Given the description of an element on the screen output the (x, y) to click on. 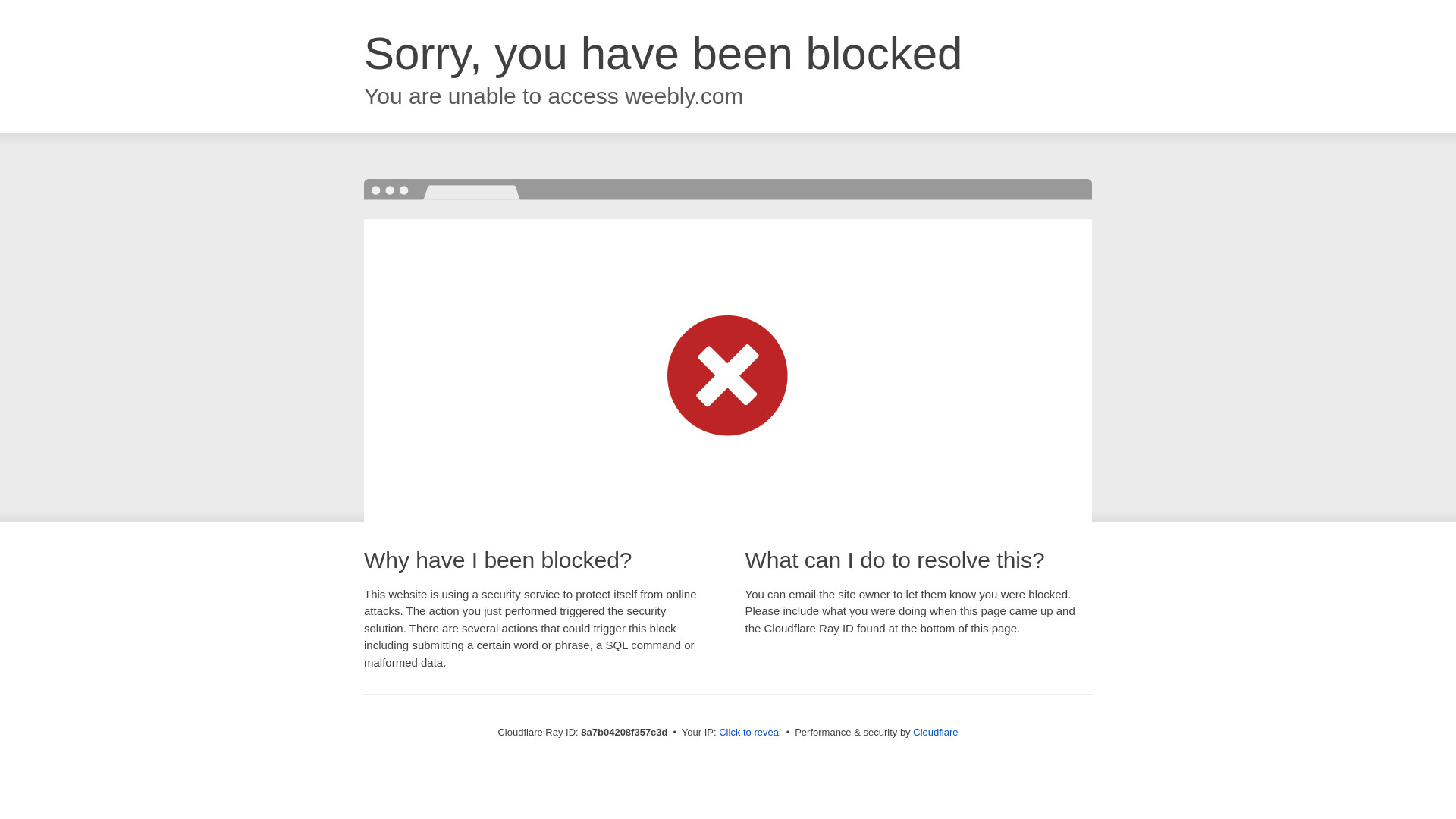
Click to reveal (749, 732)
Cloudflare (935, 731)
